Given the description of an element on the screen output the (x, y) to click on. 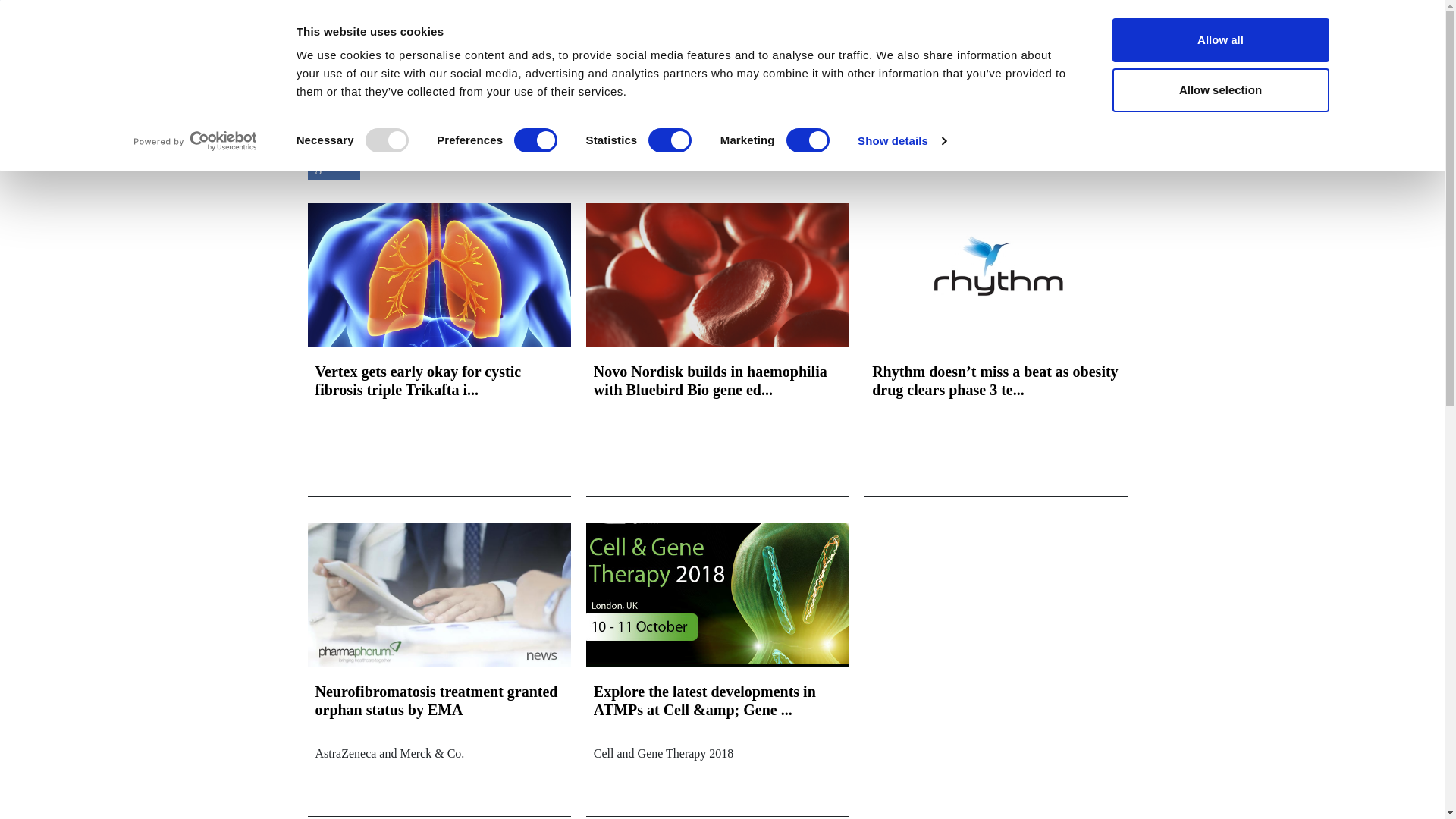
Show details (900, 140)
